Given the description of an element on the screen output the (x, y) to click on. 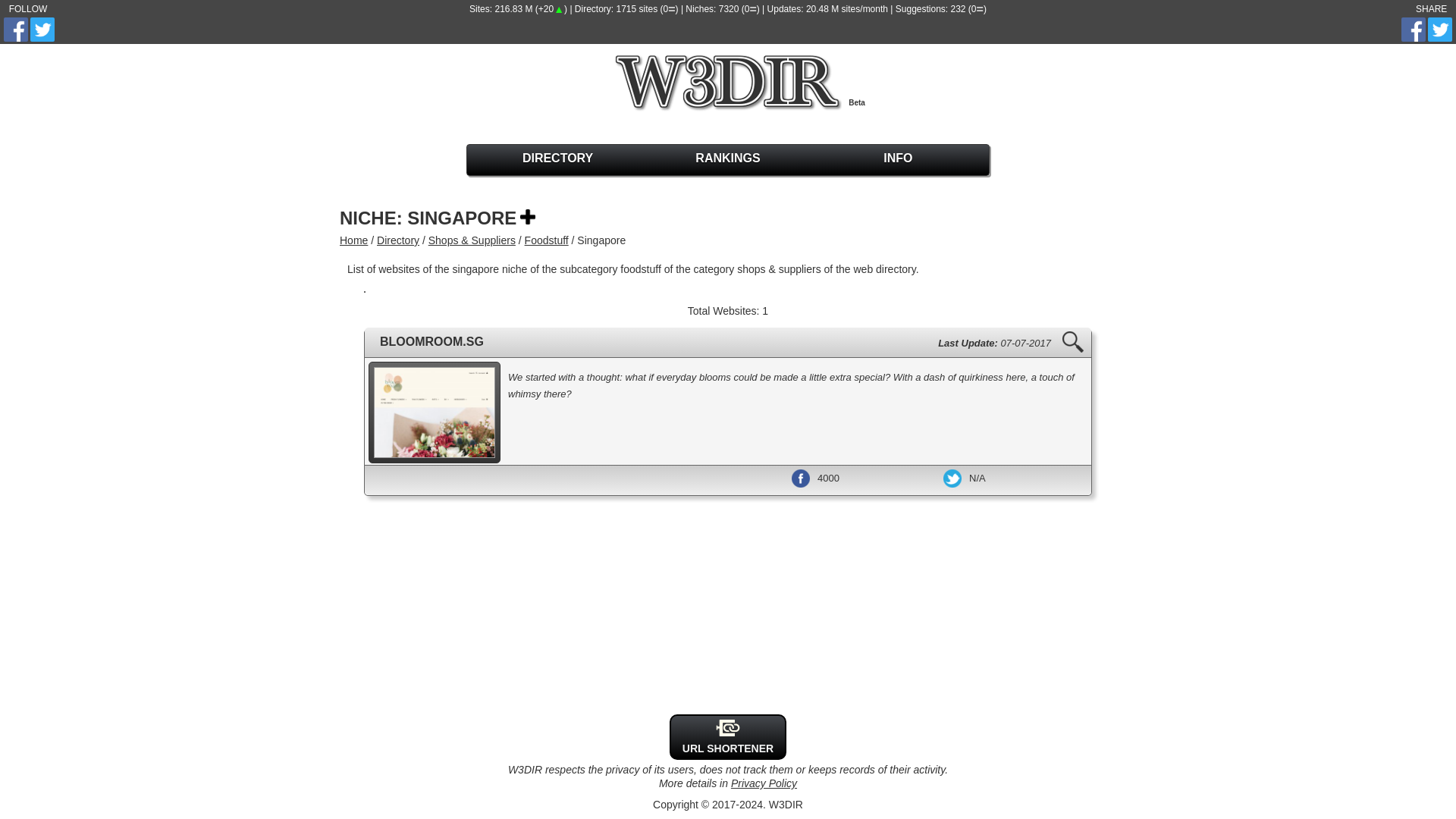
Directory (398, 240)
Go to bloomroom.sg (431, 341)
View bloomroom.sg details (1072, 341)
Share this W3DIR page on Facebook (1412, 29)
Home (353, 240)
BLOOMROOM.SG (431, 341)
URL SHORTENER (727, 748)
Facebook (727, 727)
Facebook Likes (800, 478)
Share this W3DIR page on Twitter (1439, 29)
